Given the description of an element on the screen output the (x, y) to click on. 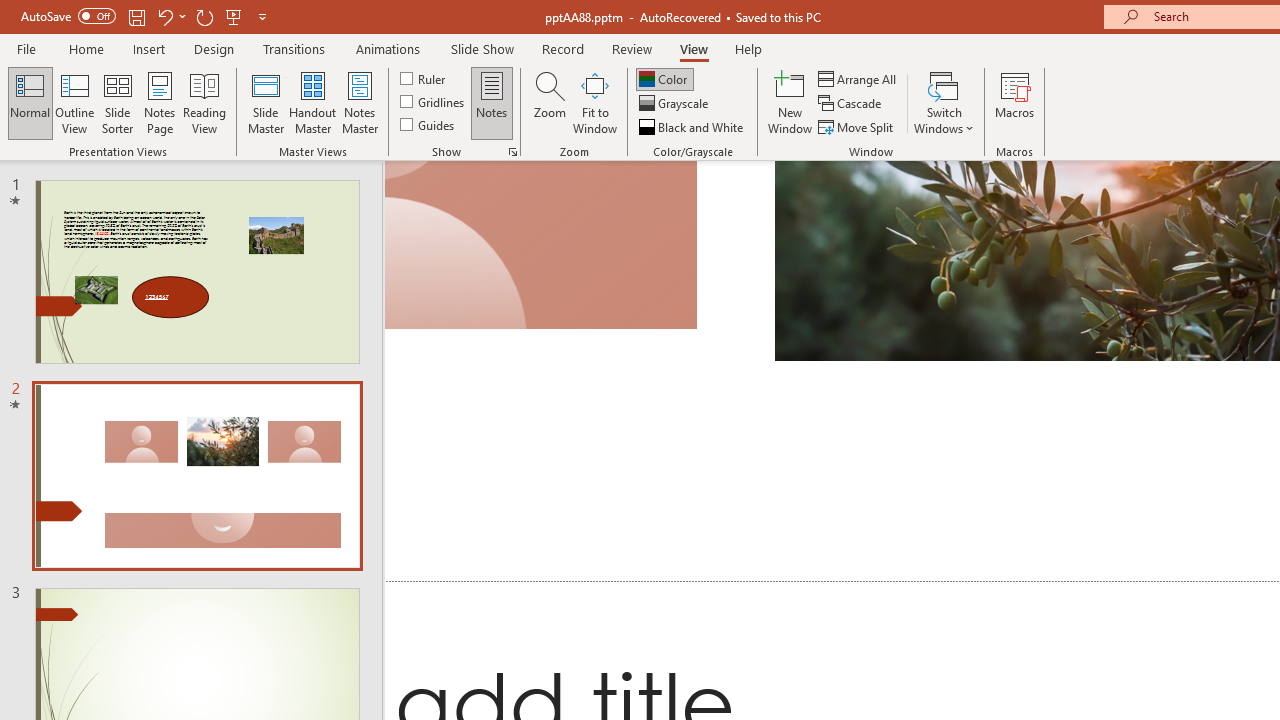
Grayscale (675, 103)
Camera 13, No camera detected. (541, 245)
Grid Settings... (512, 151)
Fit to Window (594, 102)
Cascade (851, 103)
Outline View (74, 102)
